Given the description of an element on the screen output the (x, y) to click on. 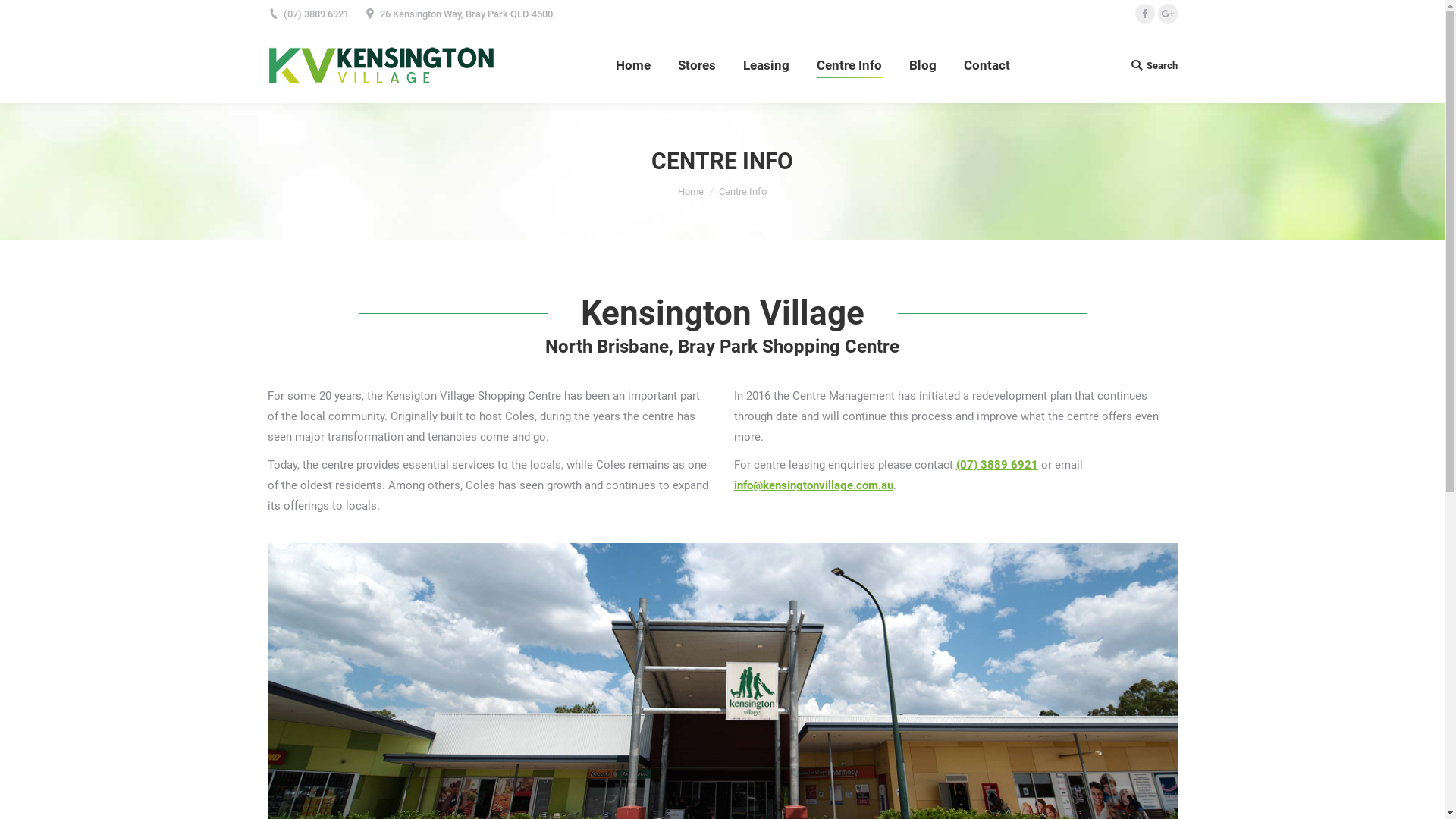
Contact Element type: text (986, 64)
Facebook Element type: text (1144, 13)
Google+ Element type: text (1166, 13)
Stores Element type: text (696, 64)
Centre Info Element type: text (848, 64)
Home Element type: text (632, 64)
Go! Element type: text (26, 14)
Blog Element type: text (921, 64)
Search Element type: text (1152, 65)
Home Element type: text (690, 191)
info@kensingtonvillage.com.au Element type: text (813, 485)
Leasing Element type: text (766, 64)
(07) 3889 6921 Element type: text (996, 464)
